Given the description of an element on the screen output the (x, y) to click on. 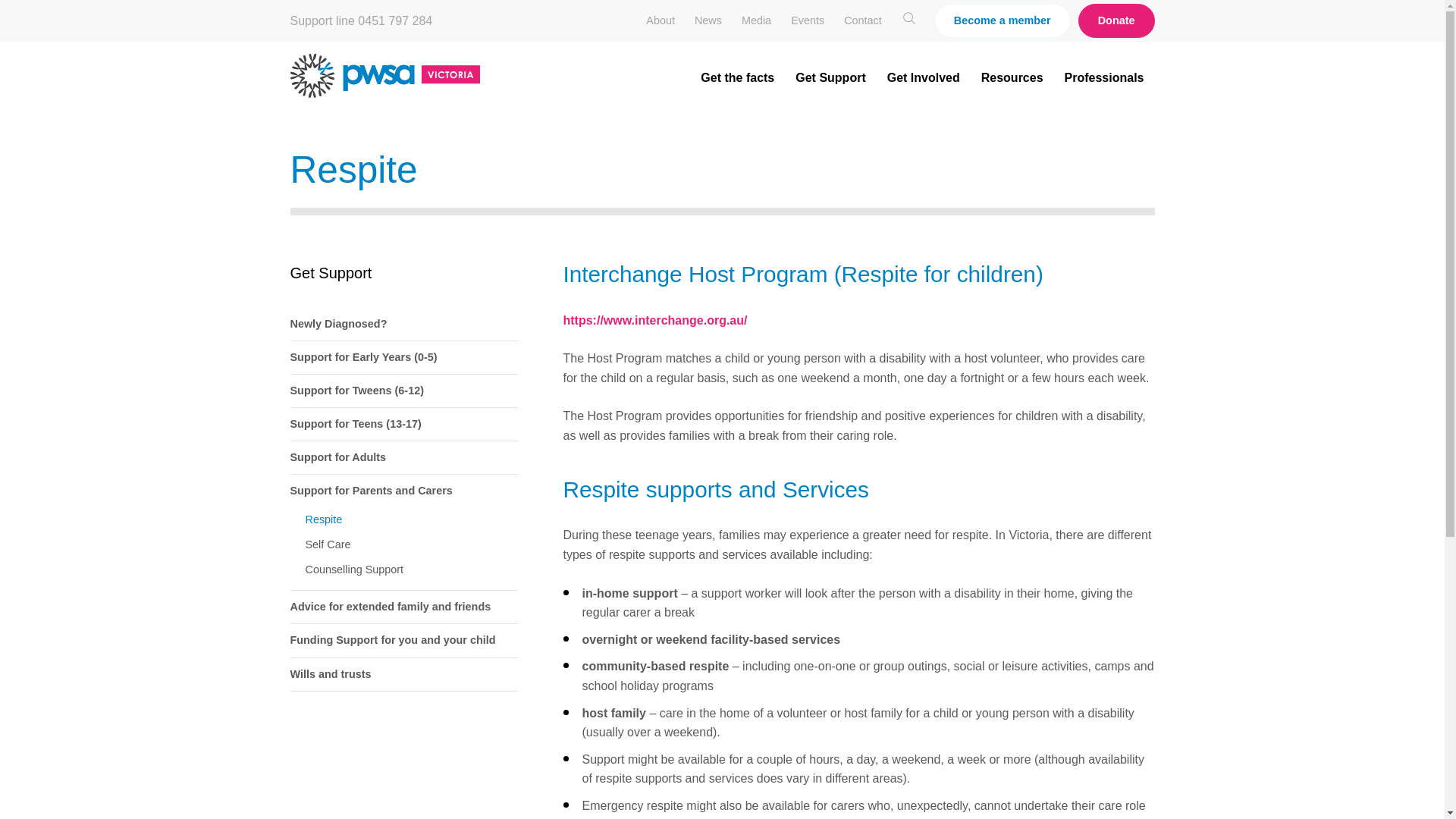
Get Support Element type: text (330, 272)
Self Care Element type: text (403, 544)
Respite Element type: text (403, 519)
Contact Element type: text (862, 20)
Newly Diagnosed? Element type: text (403, 323)
Support for Early Years (0-5) Element type: text (403, 357)
Support for Teens (13-17) Element type: text (403, 423)
Get Support Element type: text (829, 77)
Get Involved Element type: text (923, 77)
Donate Element type: text (1116, 20)
Counselling Support Element type: text (403, 569)
News Element type: text (707, 20)
Support for Adults Element type: text (403, 457)
Support line 0451 797 284 Element type: text (360, 21)
Support for Tweens (6-12) Element type: text (403, 390)
Wills and trusts Element type: text (403, 674)
Advice for extended family and friends Element type: text (403, 606)
Professionals Element type: text (1104, 77)
https://www.interchange.org.au/ Element type: text (654, 319)
Resources Element type: text (1012, 77)
Events Element type: text (807, 20)
Get the facts Element type: text (737, 77)
Support for Parents and Carers Element type: text (403, 490)
Funding Support for you and your child Element type: text (403, 640)
Media Element type: text (756, 20)
Become a member Element type: text (1002, 20)
About Element type: text (660, 20)
